Given the description of an element on the screen output the (x, y) to click on. 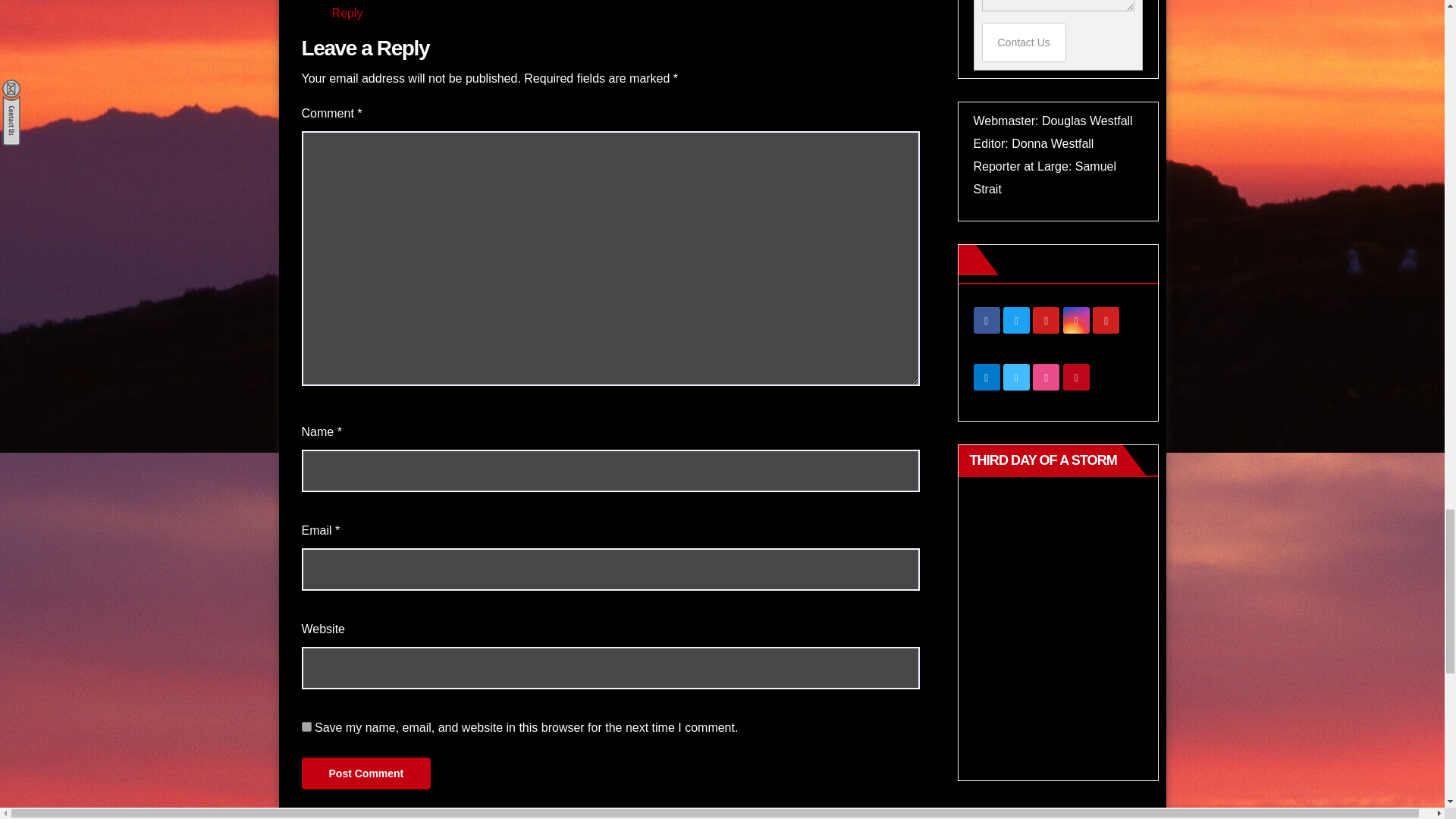
yes (306, 726)
Post Comment (365, 773)
